Given the description of an element on the screen output the (x, y) to click on. 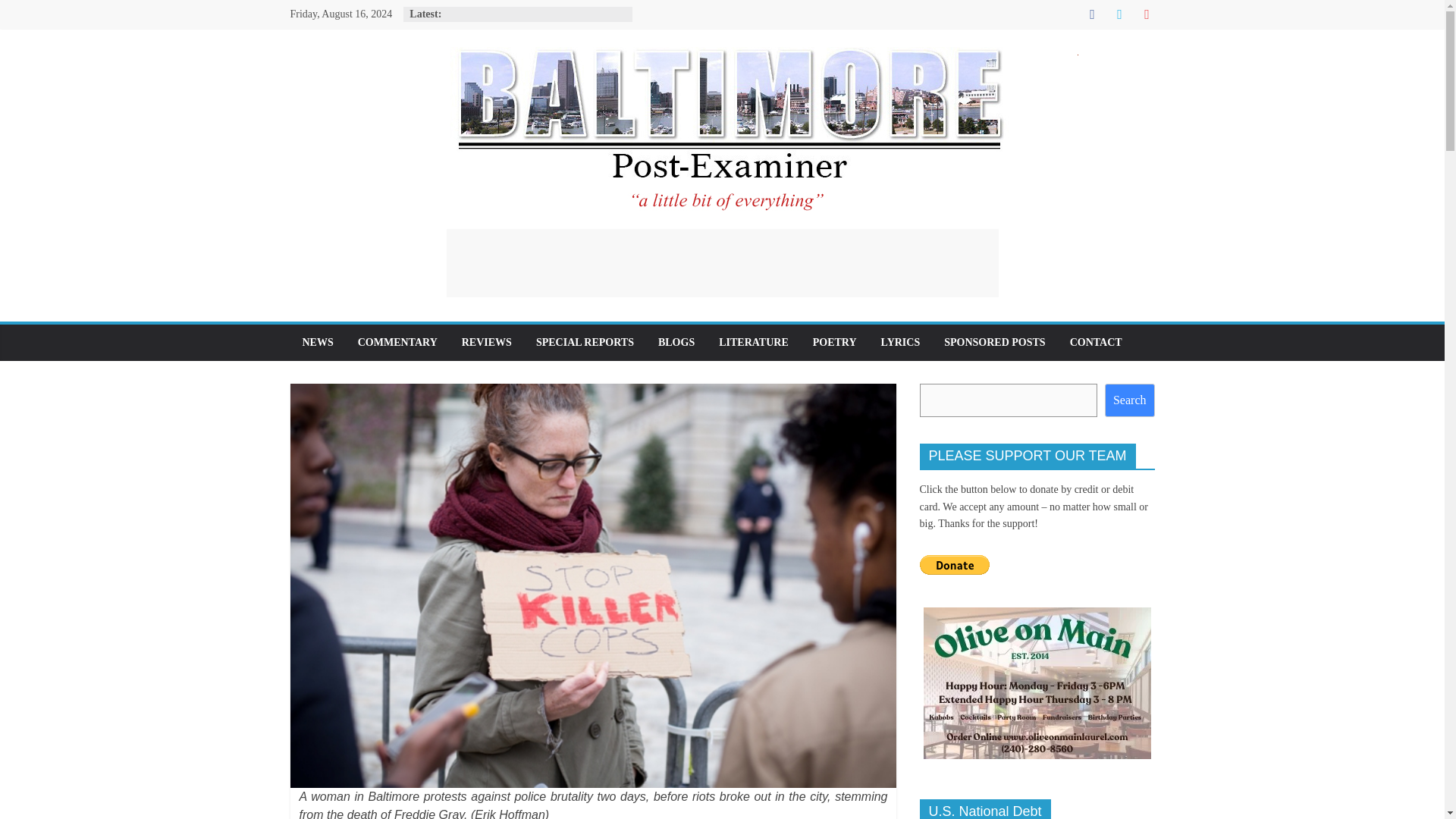
POETRY (834, 342)
LYRICS (901, 342)
COMMENTARY (397, 342)
SPECIAL REPORTS (585, 342)
REVIEWS (486, 342)
BLOGS (676, 342)
NEWS (317, 342)
SPONSORED POSTS (994, 342)
Advertisement (721, 263)
Search (1129, 400)
